Given the description of an element on the screen output the (x, y) to click on. 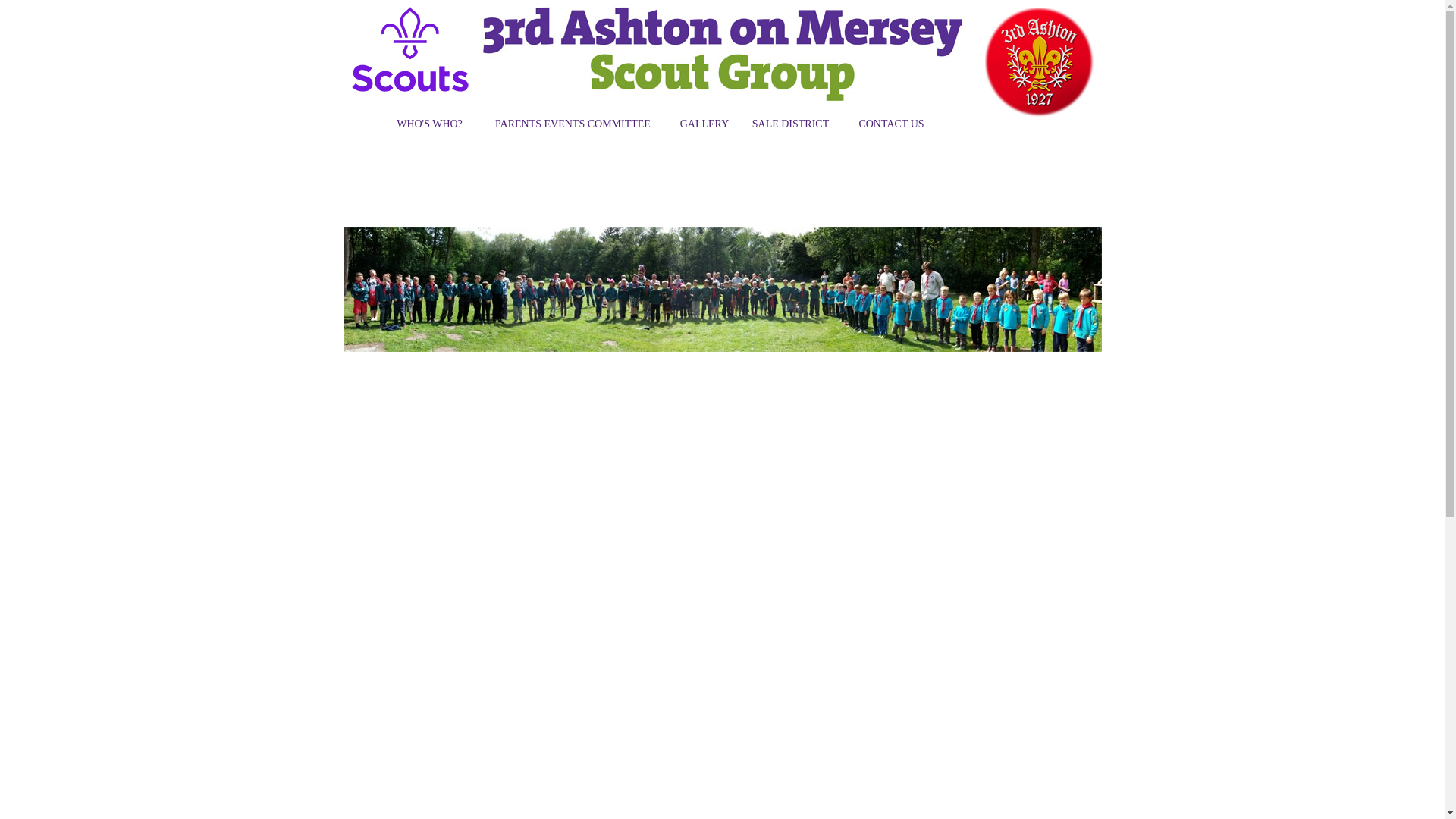
GALLERY Element type: text (704, 124)
CONTACT US Element type: text (890, 124)
SALE DISTRICT Element type: text (790, 124)
WHO'S WHO? Element type: text (429, 124)
PARENTS EVENTS COMMITTEE Element type: text (572, 124)
